Given the description of an element on the screen output the (x, y) to click on. 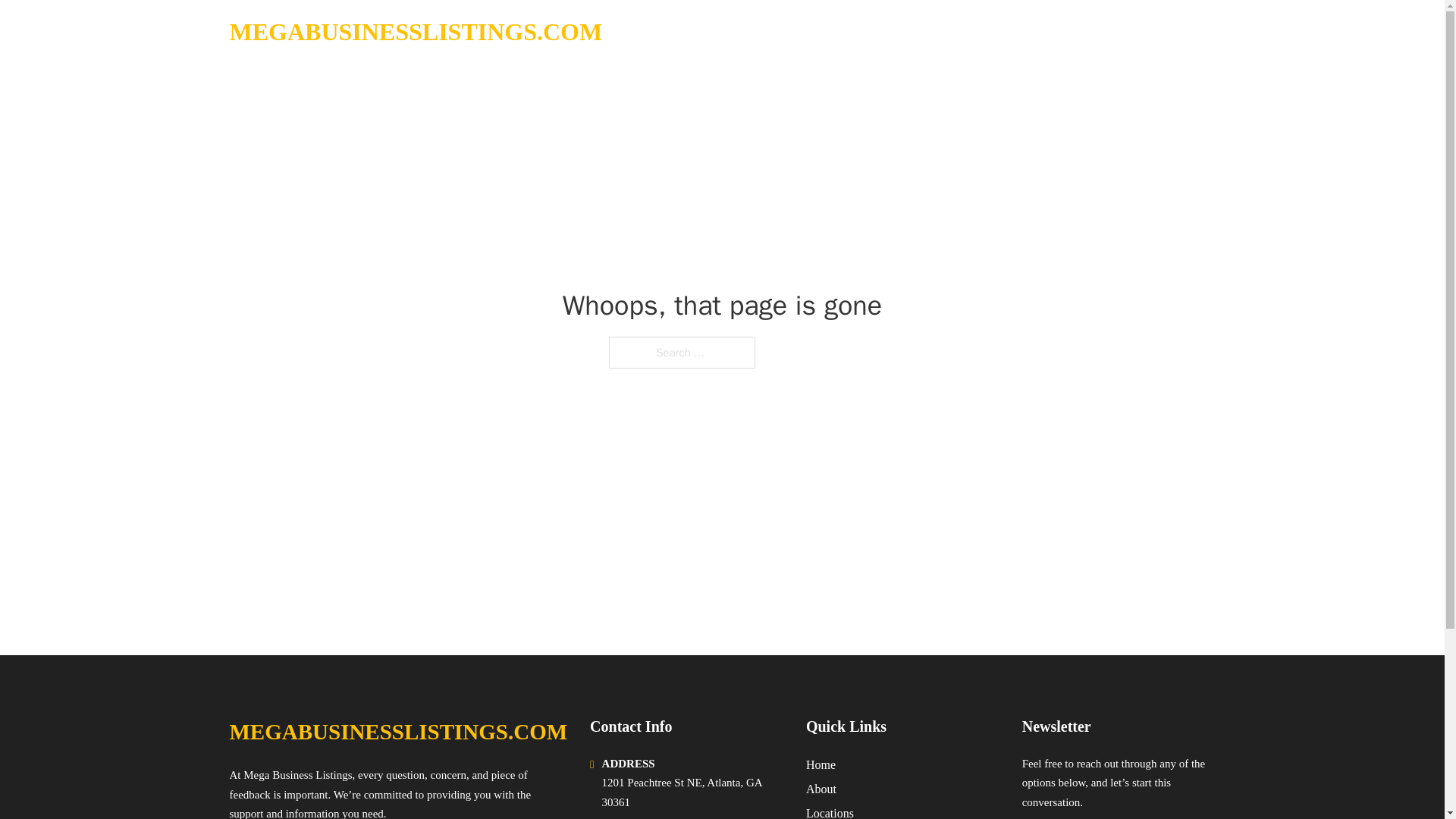
HOME (1025, 31)
About (820, 788)
Home (820, 764)
LOCATIONS (1098, 31)
Locations (829, 811)
MEGABUSINESSLISTINGS.COM (397, 732)
MEGABUSINESSLISTINGS.COM (415, 31)
